Given the description of an element on the screen output the (x, y) to click on. 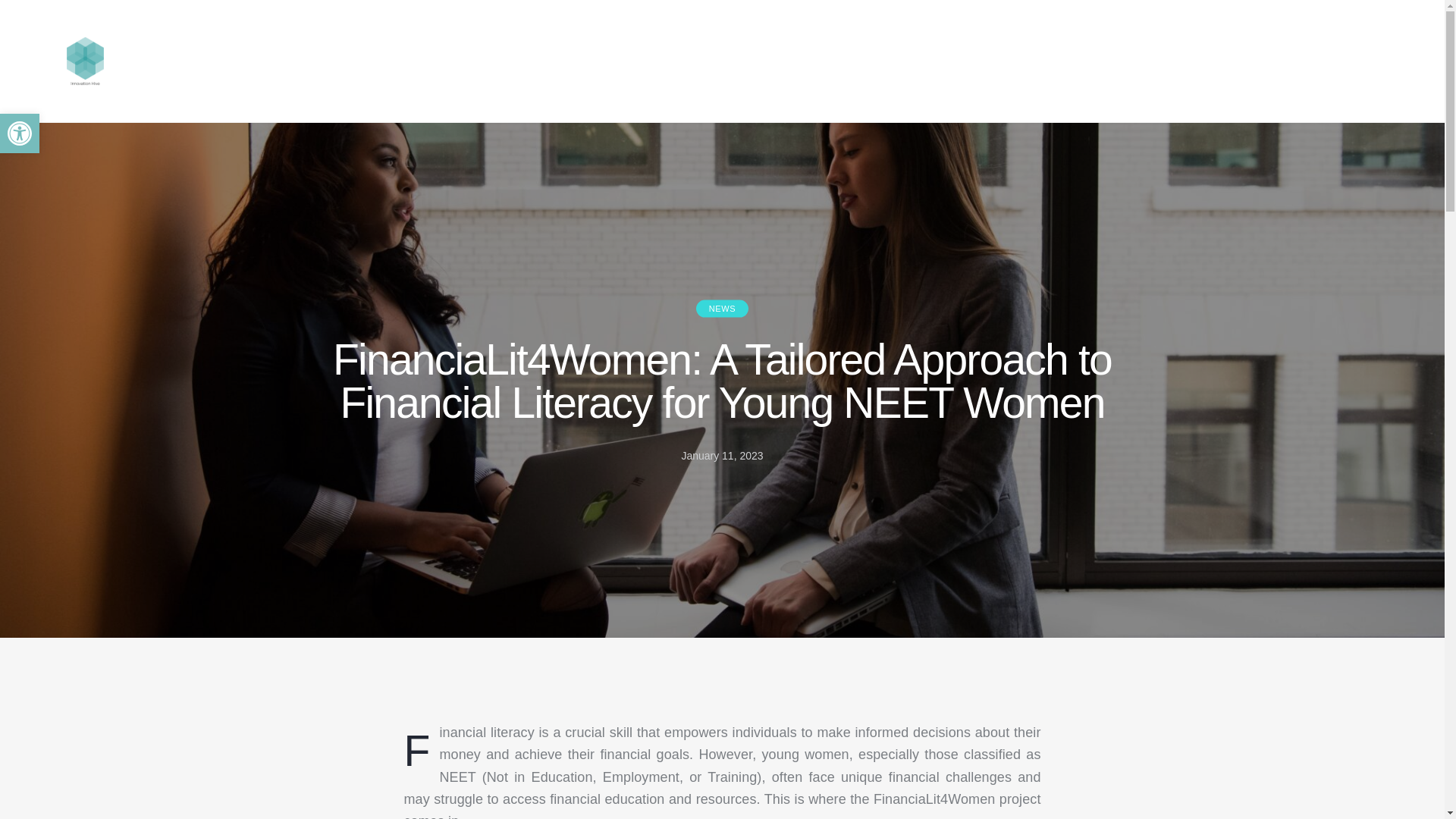
Accessibility Tools (19, 133)
Accessibility Tools (19, 133)
NEWS (721, 308)
